Given the description of an element on the screen output the (x, y) to click on. 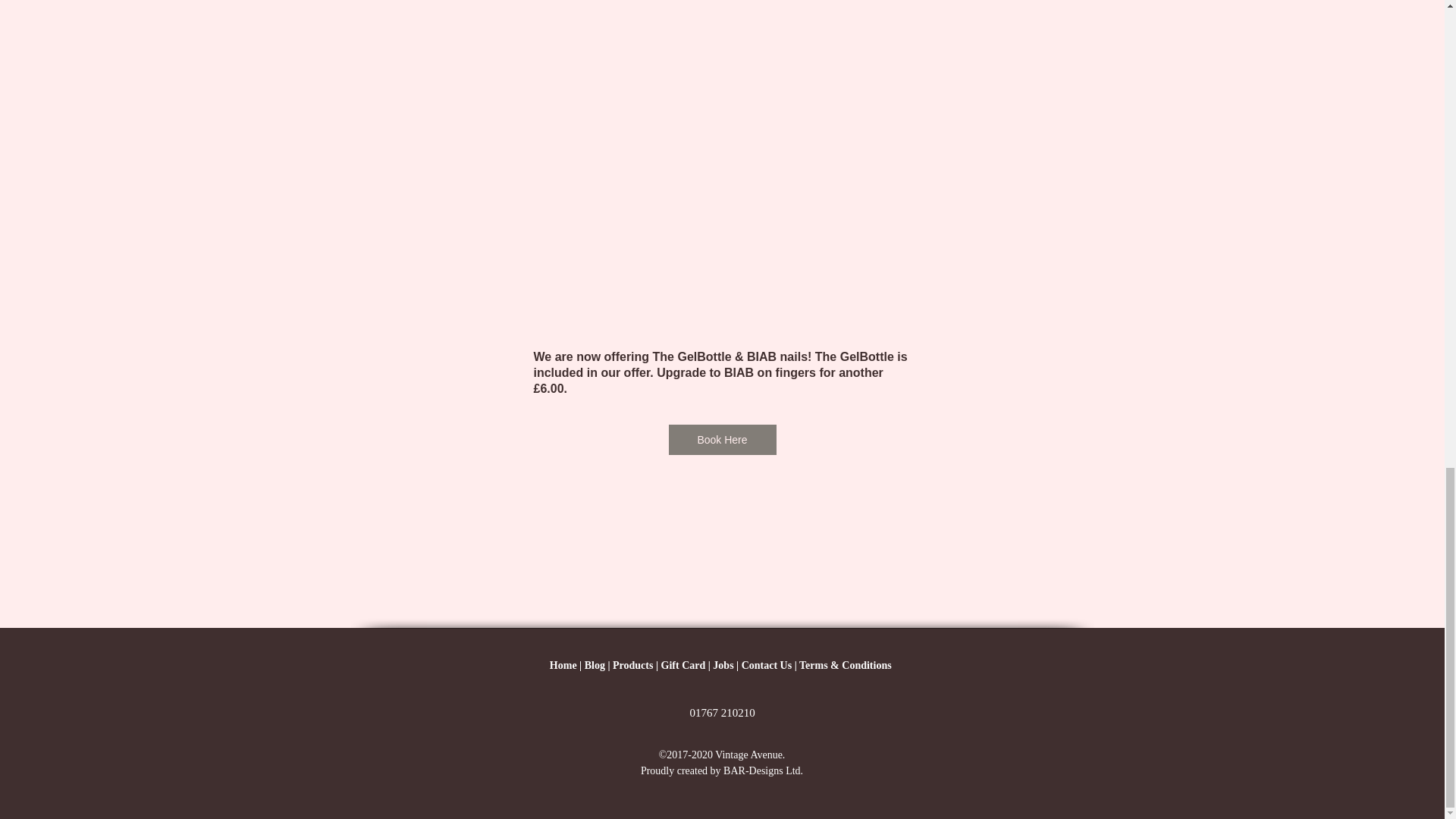
Home (563, 665)
Book Here (722, 440)
Blog (595, 665)
Products (632, 665)
